Given the description of an element on the screen output the (x, y) to click on. 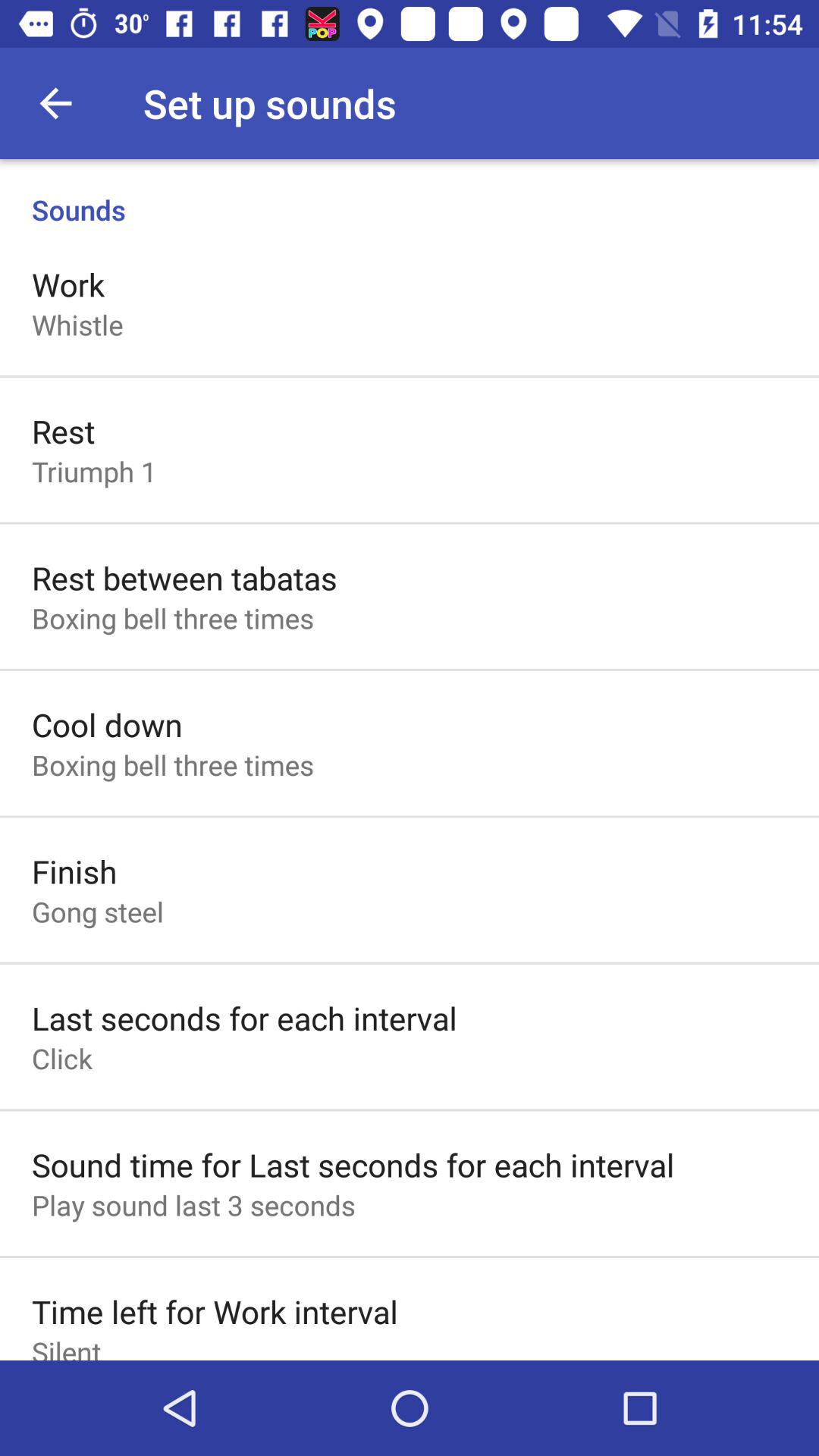
flip until triumph 1 item (93, 471)
